Given the description of an element on the screen output the (x, y) to click on. 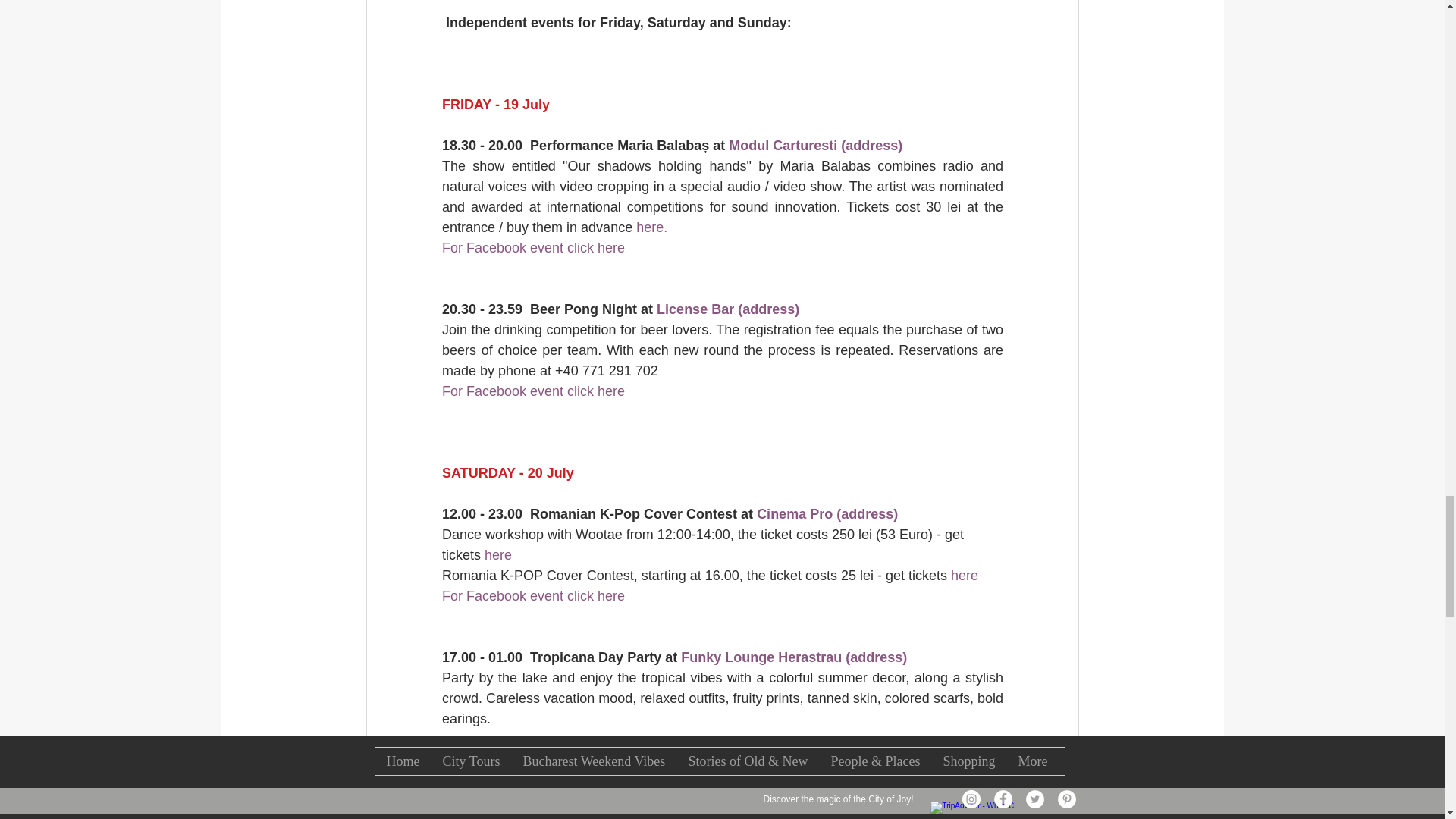
For Facebook event click here (532, 780)
here (498, 554)
here. (651, 227)
For Facebook event click here (532, 391)
For Facebook event click here (532, 595)
here (963, 575)
For Facebook event click here (532, 247)
